Given the description of an element on the screen output the (x, y) to click on. 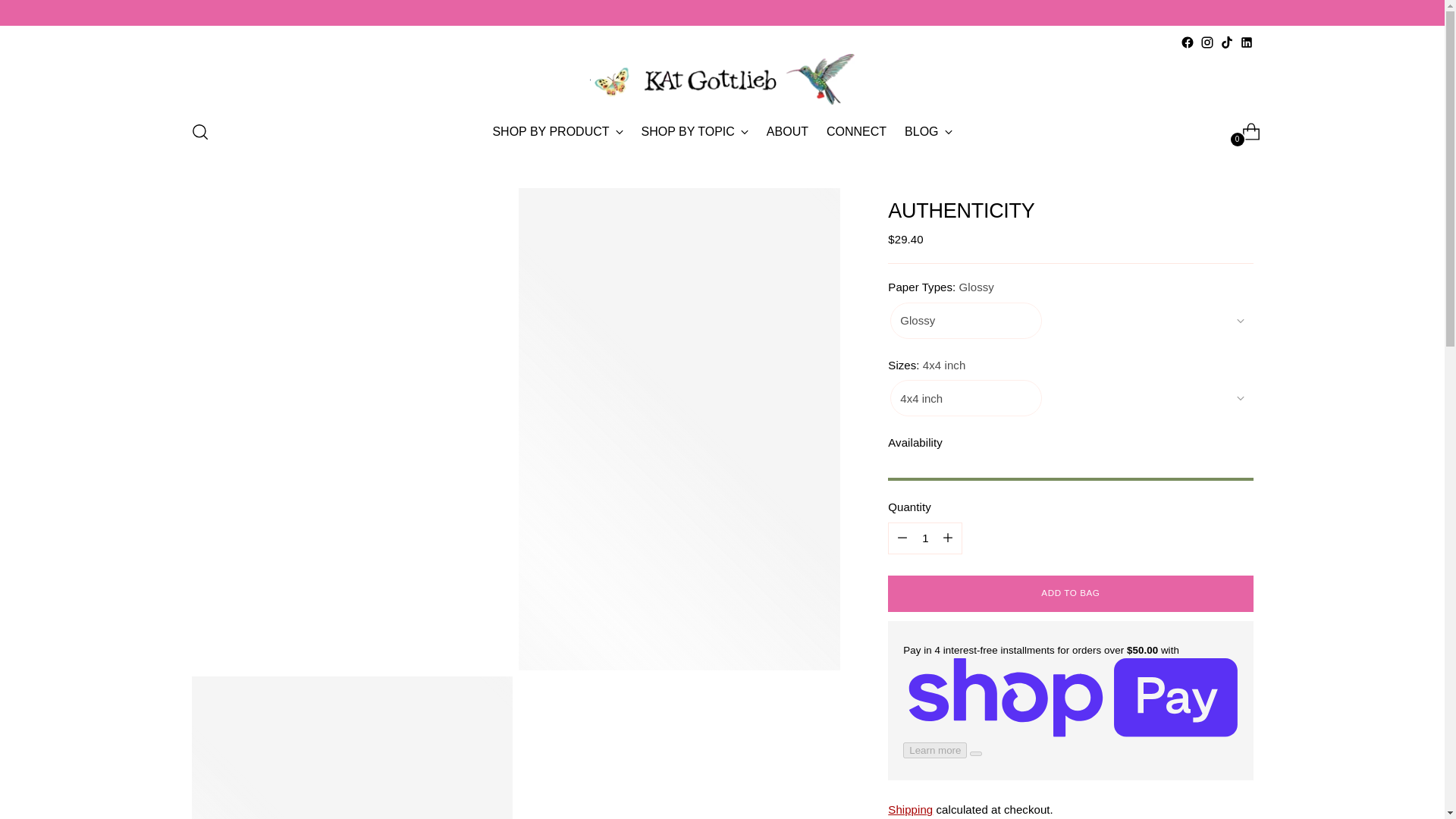
SHOP BY TOPIC (695, 131)
SHOP BY PRODUCT (722, 132)
1 (557, 131)
KatGottlieb on Instagram (925, 538)
KatGottlieb on Facebook (1205, 42)
KatGottlieb on LinkedIn (1186, 42)
KatGottlieb on Tiktok (1245, 42)
